Given the description of an element on the screen output the (x, y) to click on. 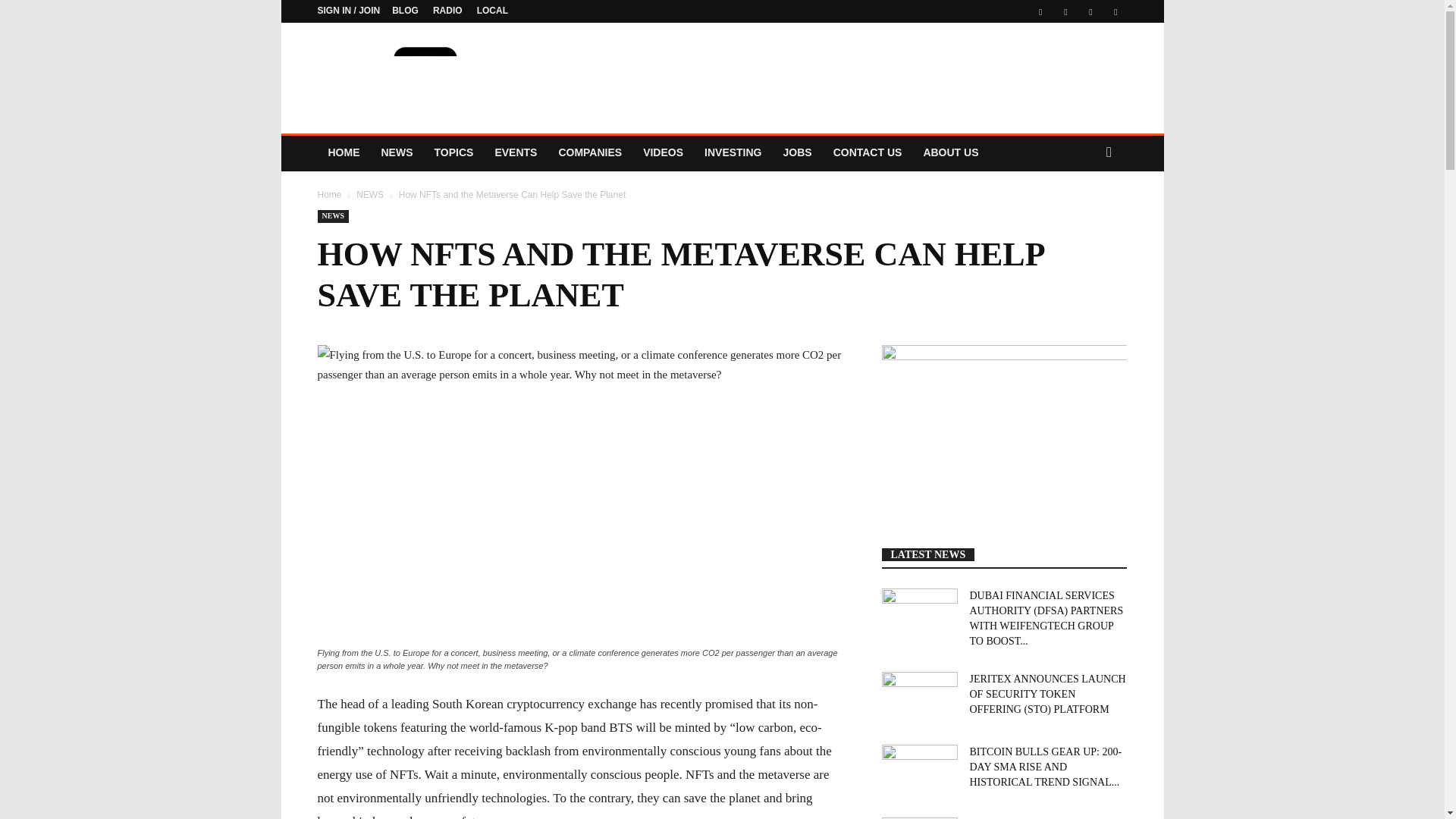
VKontakte (1090, 11)
RADIO (447, 9)
BLOG (405, 9)
Facebook (1040, 11)
LOCAL (492, 9)
Twitter (1065, 11)
Youtube (1114, 11)
